Given the description of an element on the screen output the (x, y) to click on. 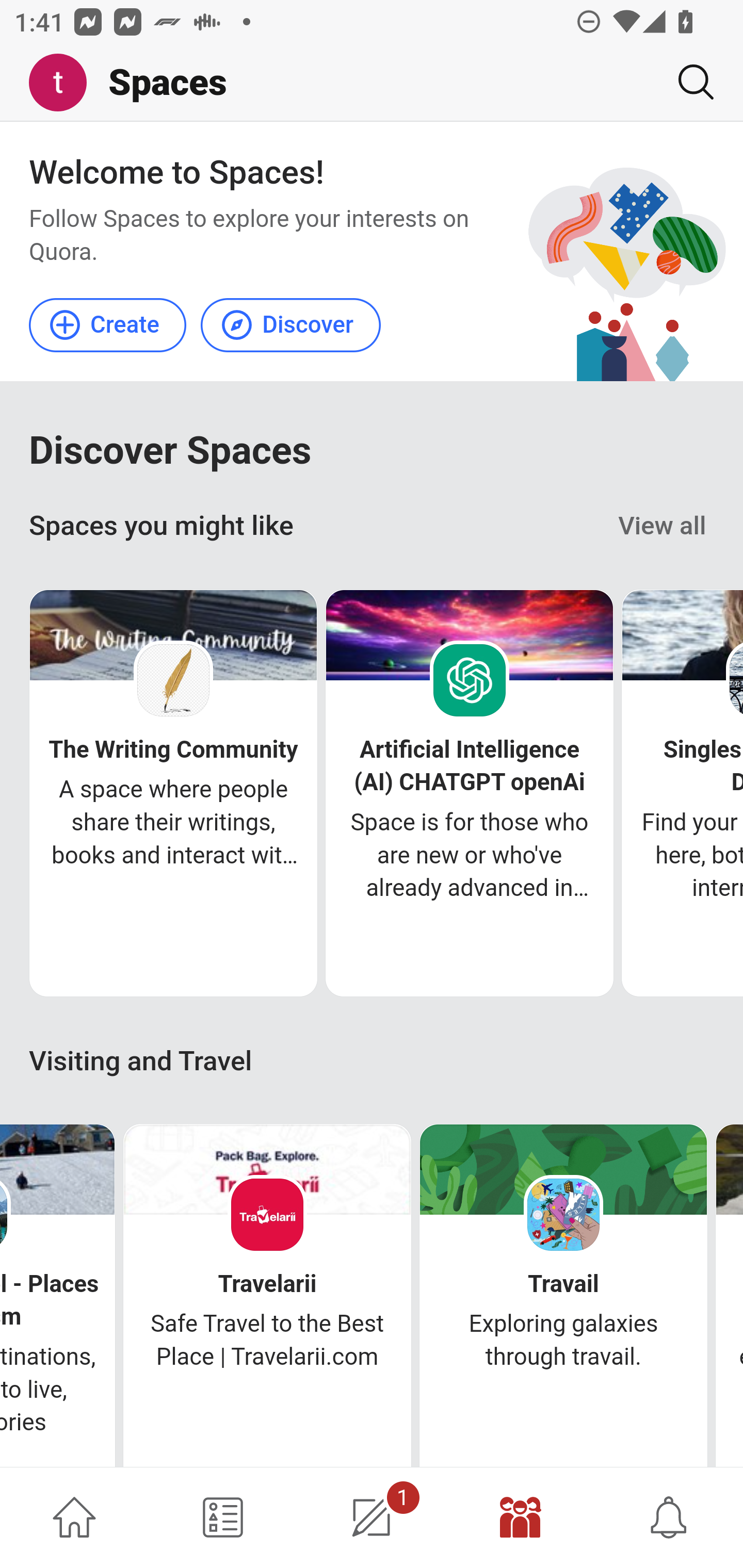
Me Spaces Search (371, 82)
Me (64, 83)
Search (688, 82)
Create (107, 324)
Discover (289, 324)
View all (662, 525)
The Writing Community (172, 750)
Artificial Intelligence (AI) CHATGPT openAi (469, 766)
Travelarii (267, 1284)
Travail (563, 1284)
1 (371, 1517)
